Given the description of an element on the screen output the (x, y) to click on. 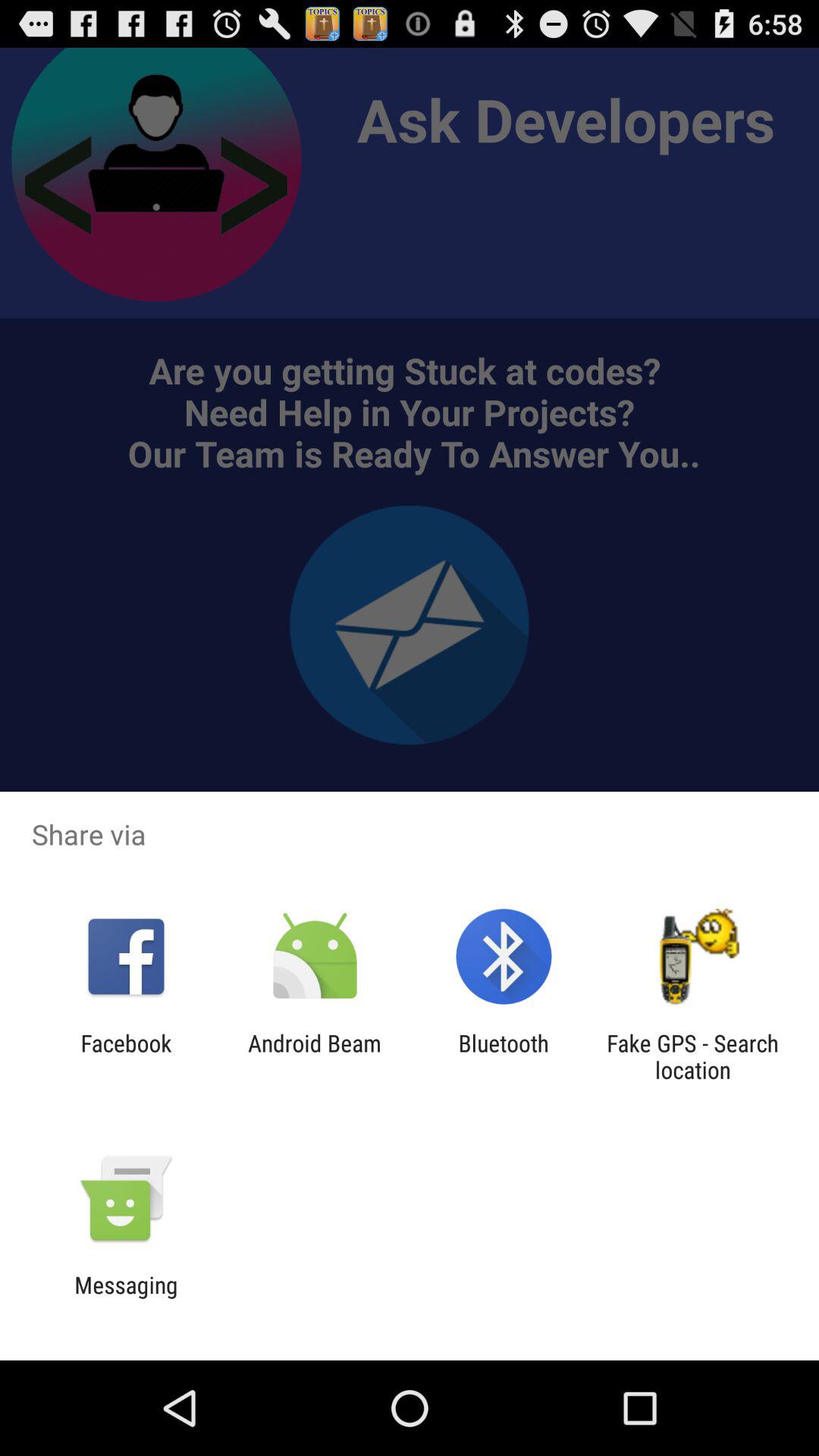
tap fake gps search app (692, 1056)
